Given the description of an element on the screen output the (x, y) to click on. 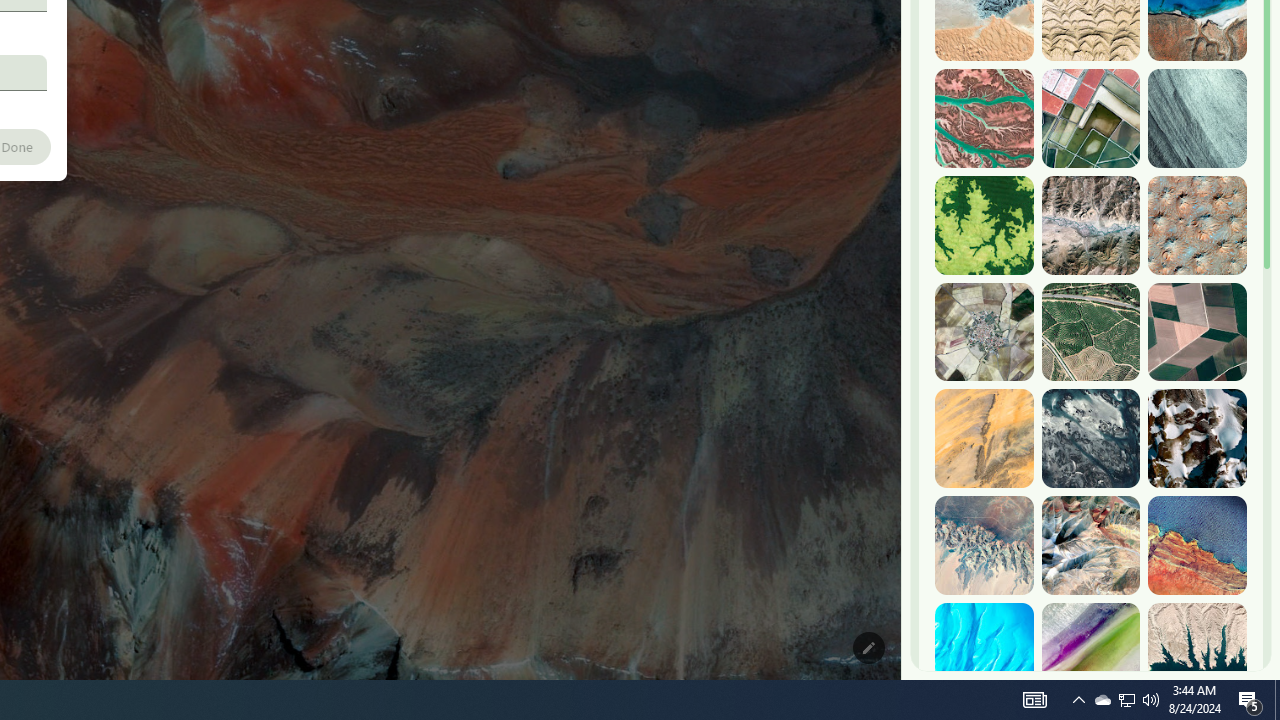
Libya (1197, 545)
Utrera, Spain (1197, 332)
Dekese, DR Congo (984, 225)
Davis County, United States (1090, 651)
Aigues-Mortes, France (1090, 119)
Antarctica (1197, 438)
Qesm Al Wahat Ad Dakhlah, Egypt (984, 545)
Hainan, China (1197, 651)
Pozoantiguo, Spain (984, 332)
Isla Cristina, Spain (1090, 332)
Granville, France (1090, 438)
Atar, Mauritania (984, 438)
Rikaze, China (1090, 225)
